Given the description of an element on the screen output the (x, y) to click on. 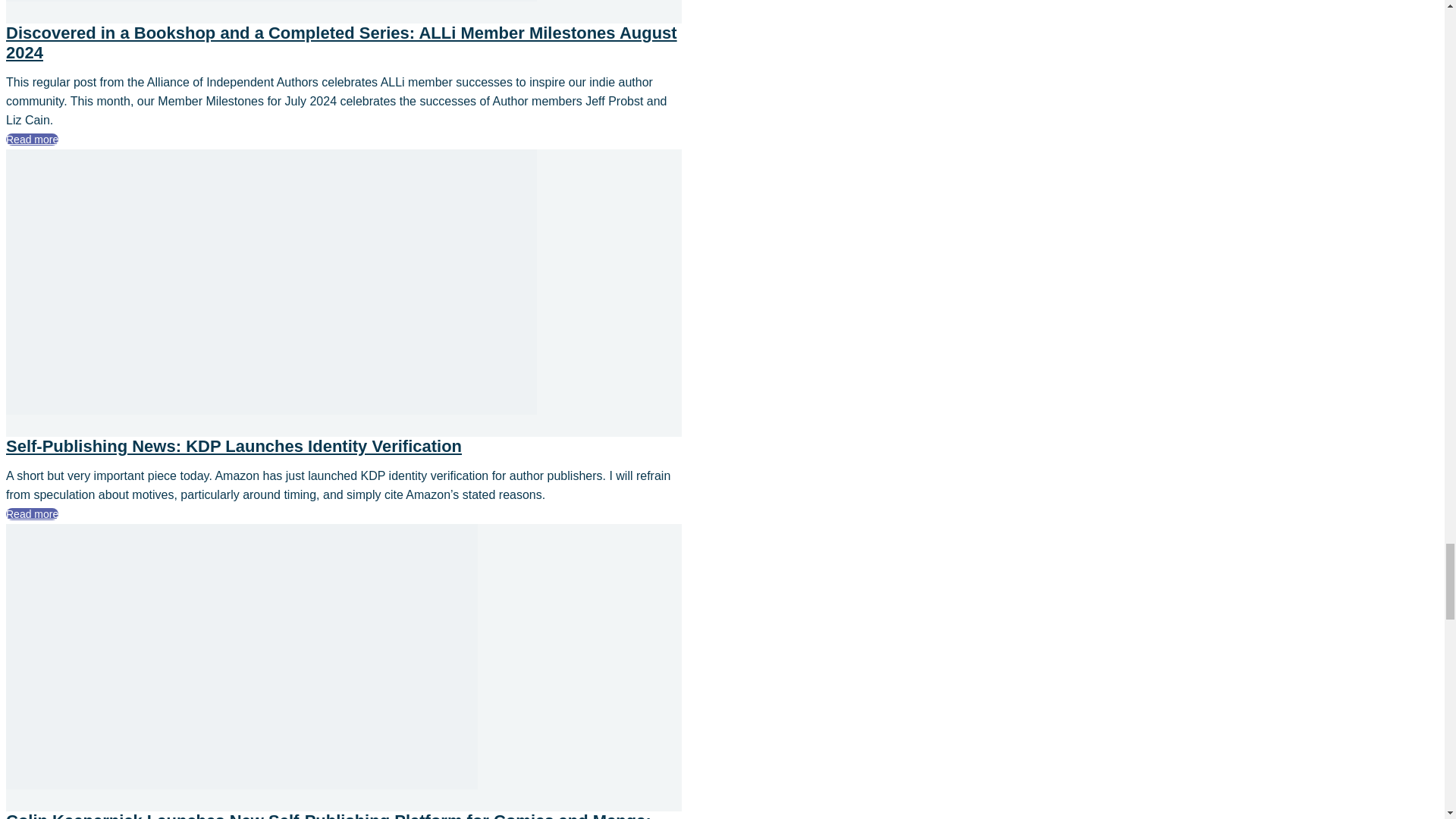
Self-Publishing News: KDP Launches Identity Verification (271, 410)
